Given the description of an element on the screen output the (x, y) to click on. 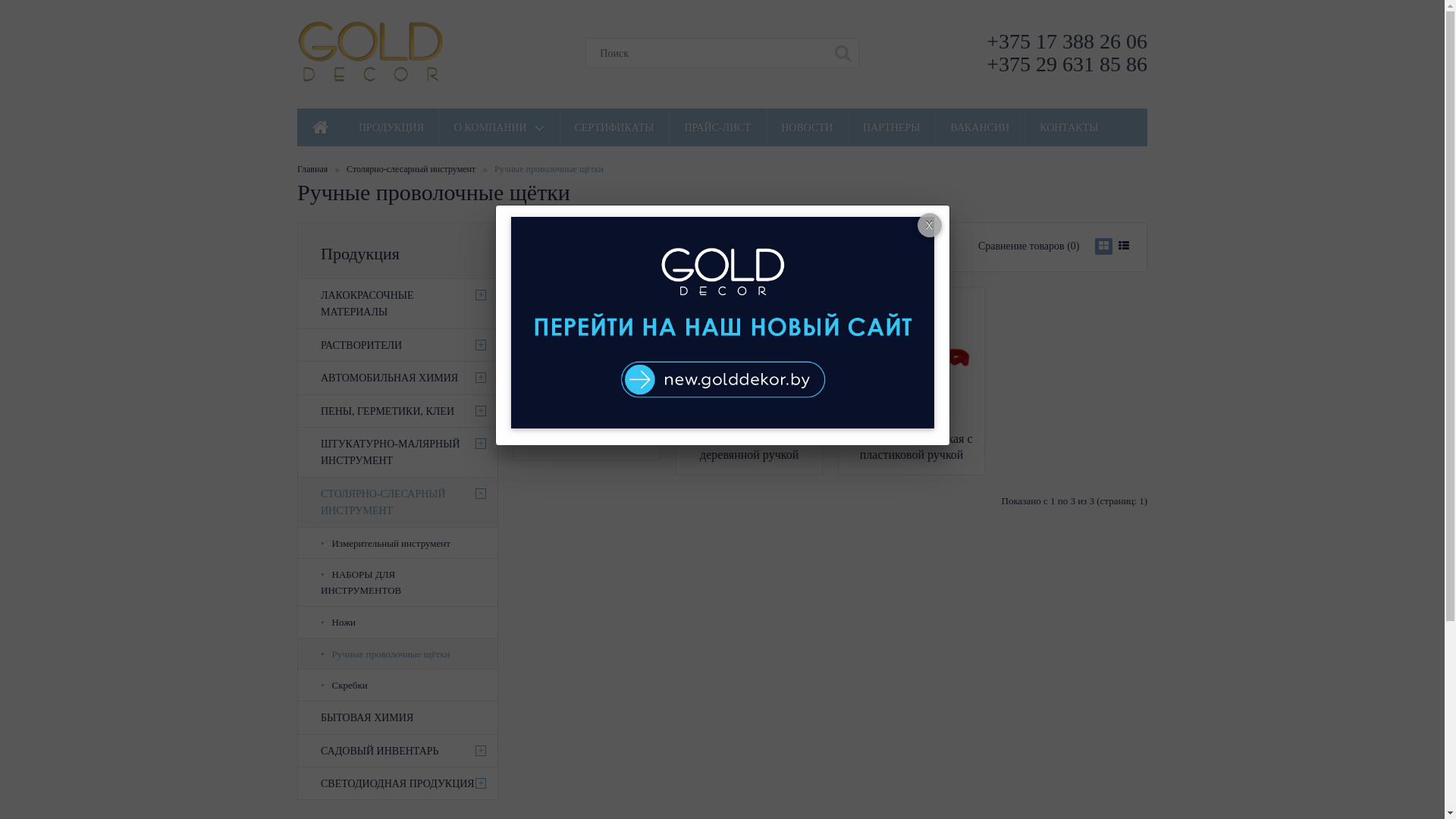
+ Element type: text (480, 783)
+ Element type: text (480, 294)
Grid Element type: hover (1103, 246)
+ Element type: text (480, 750)
- Element type: text (480, 493)
+ Element type: text (480, 344)
+ Element type: text (480, 377)
+ Element type: text (480, 410)
List Element type: hover (1123, 246)
+ Element type: text (480, 443)
